Given the description of an element on the screen output the (x, y) to click on. 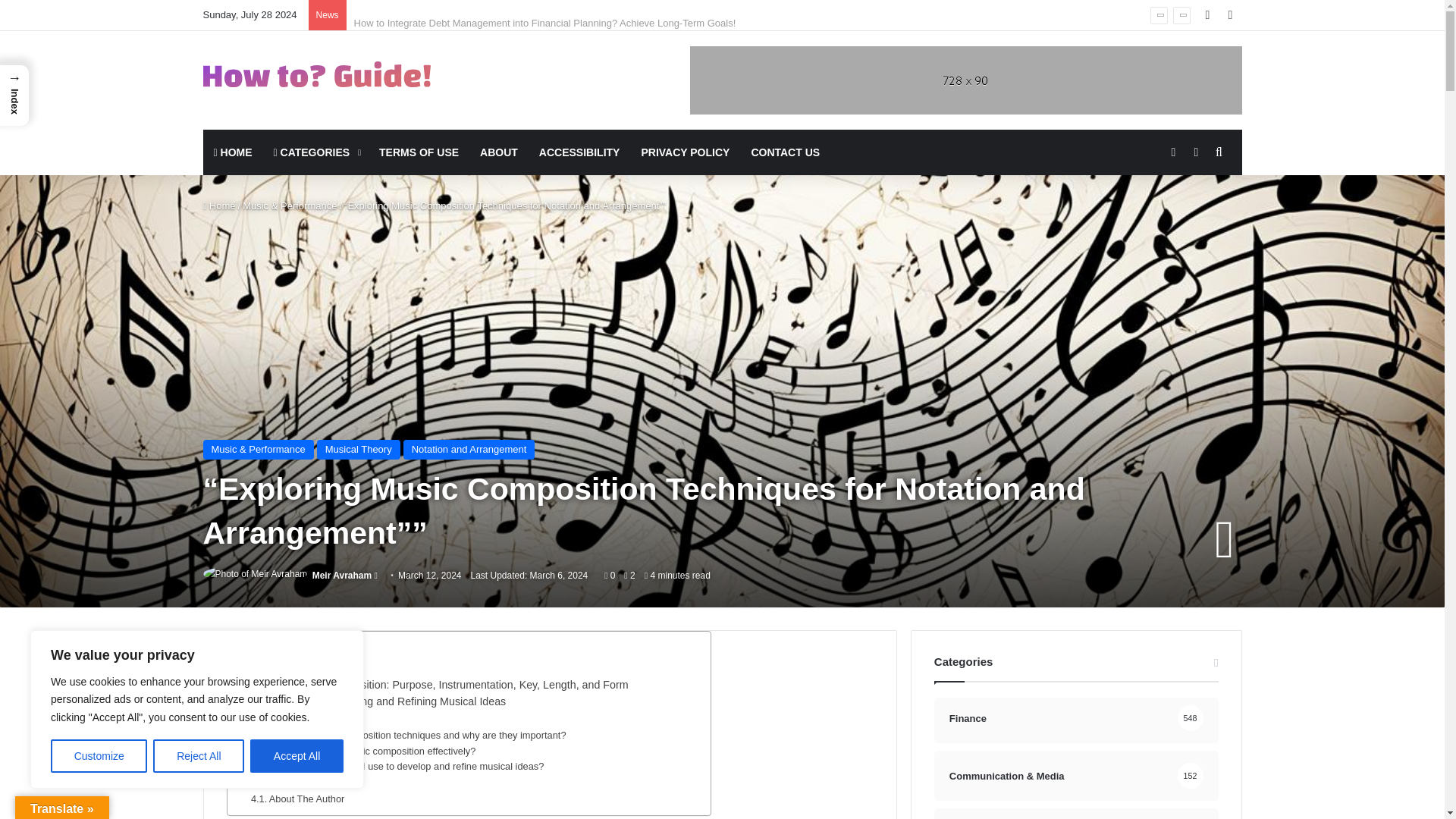
FAQ (250, 719)
CATEGORIES (316, 152)
PRIVACY POLICY (684, 152)
Reject All (198, 756)
Accept All (296, 756)
How to...? Guide! (316, 73)
TERMS OF USE (418, 152)
Key Takeaways: (298, 668)
Home (219, 205)
HOME (233, 152)
Customize (98, 756)
ACCESSIBILITY (579, 152)
CONTACT US (784, 152)
Techniques for Developing and Refining Musical Ideas (370, 701)
